Given the description of an element on the screen output the (x, y) to click on. 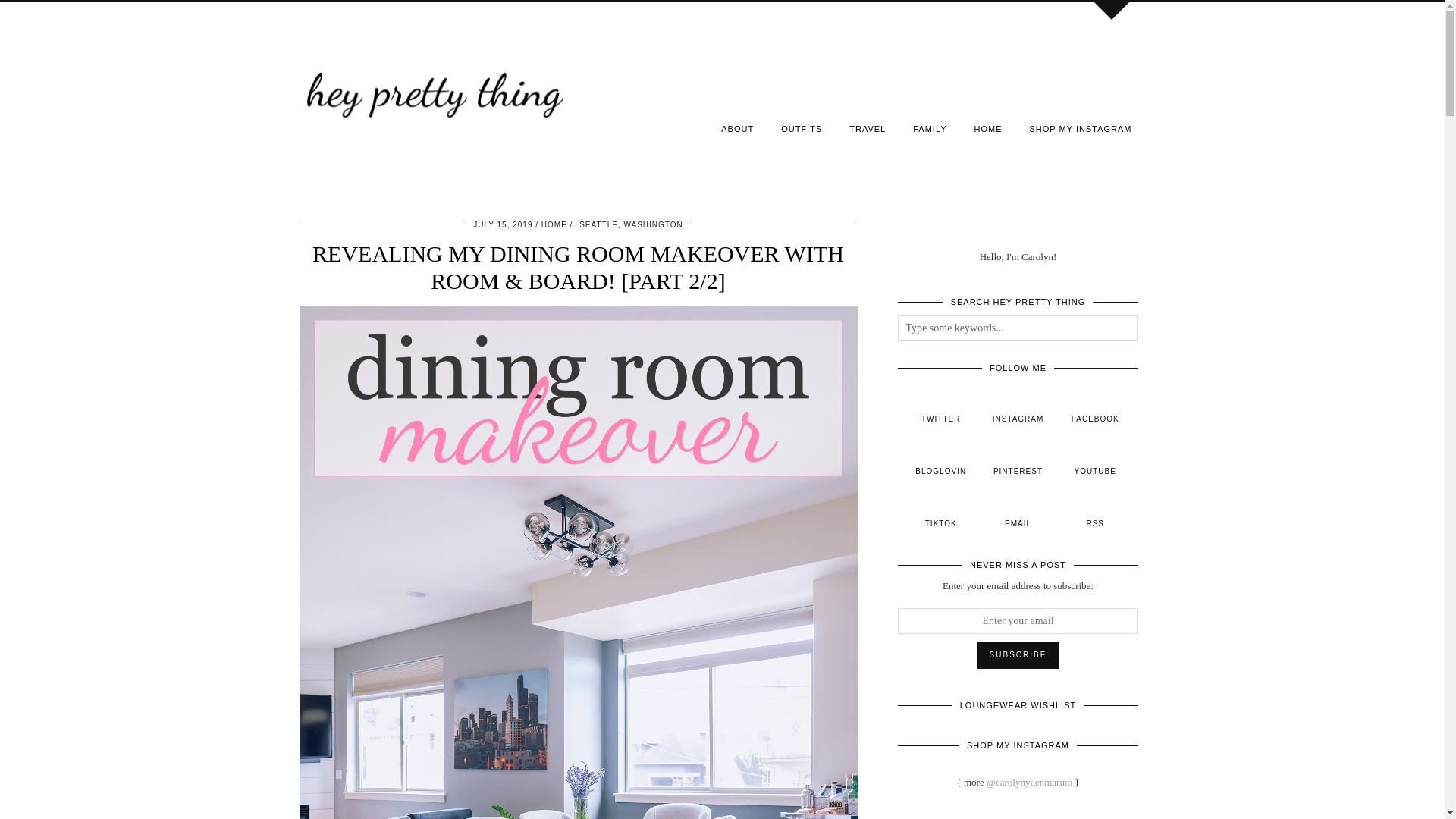
HOME (554, 224)
HOME (988, 128)
ABOUT (737, 128)
OUTFITS (801, 128)
FAMILY (929, 128)
TRAVEL (867, 128)
SHOP MY INSTAGRAM (1080, 128)
Hey Pretty Thing (433, 91)
Subscribe (1017, 655)
